Given the description of an element on the screen output the (x, y) to click on. 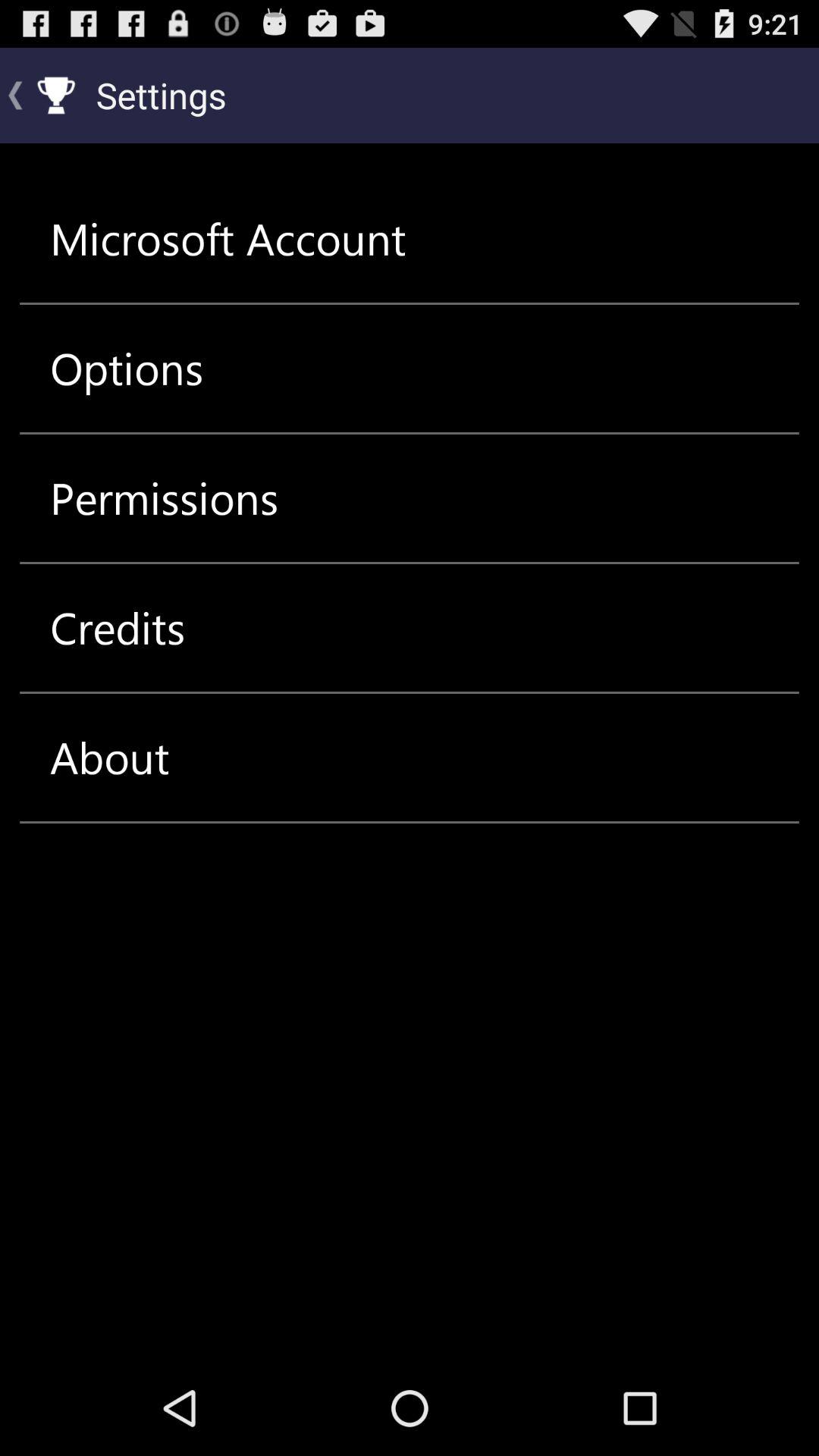
flip until about (109, 757)
